Given the description of an element on the screen output the (x, y) to click on. 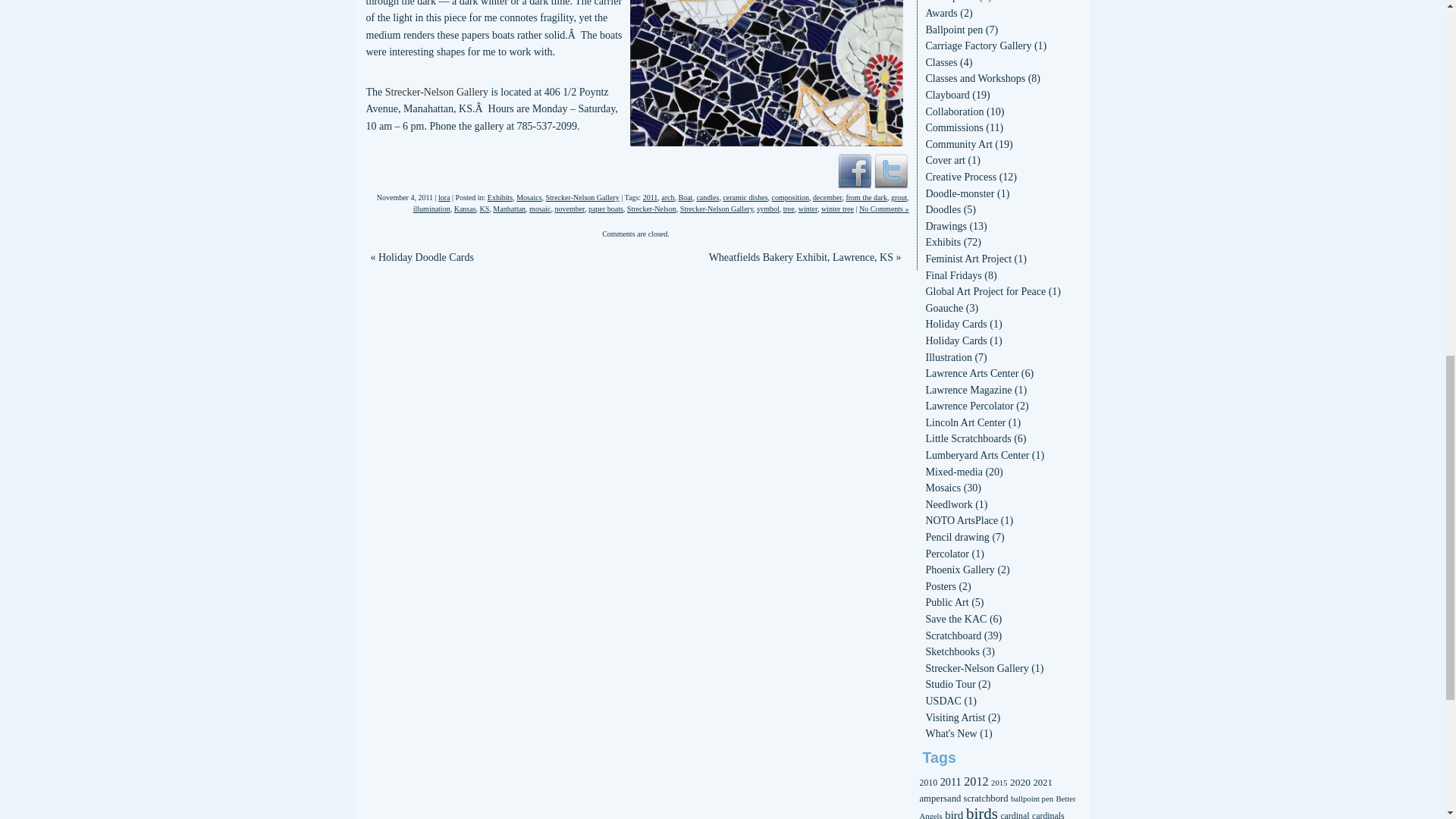
winter tree (837, 208)
candles (707, 197)
Boat (685, 197)
november (569, 208)
december (826, 197)
tree (788, 208)
arch (667, 197)
KS (484, 208)
Mosaics (528, 197)
2011 (650, 197)
Facebook (853, 170)
Exhibits (499, 197)
Twitter (890, 170)
paper boats (605, 208)
grout (899, 197)
